Given the description of an element on the screen output the (x, y) to click on. 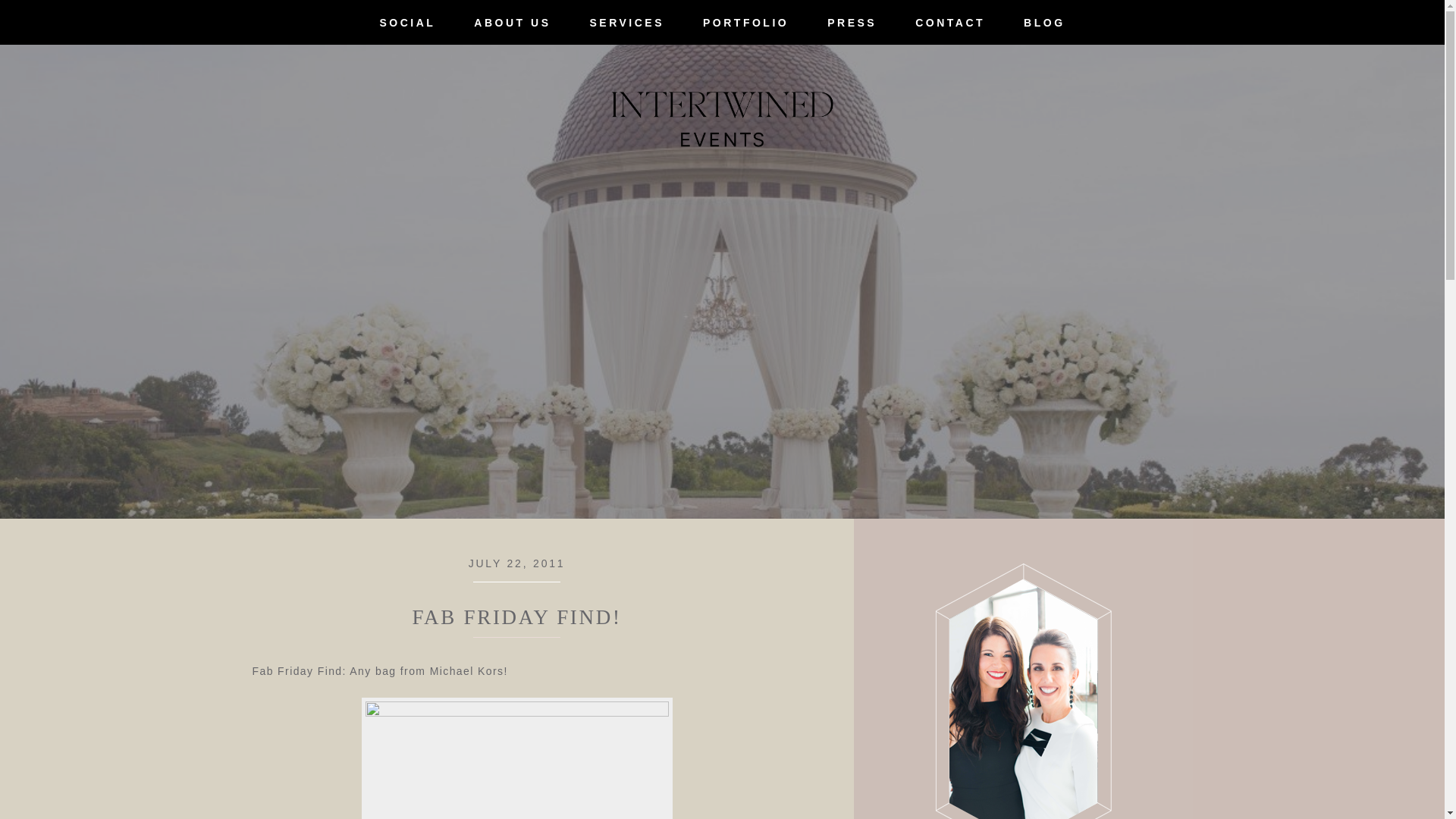
BLOG (1044, 22)
SERVICES (626, 22)
CONTACT (949, 22)
ABOUT US (512, 22)
SOCIAL (407, 22)
PRESS (852, 22)
PORTFOLIO (745, 22)
